Given the description of an element on the screen output the (x, y) to click on. 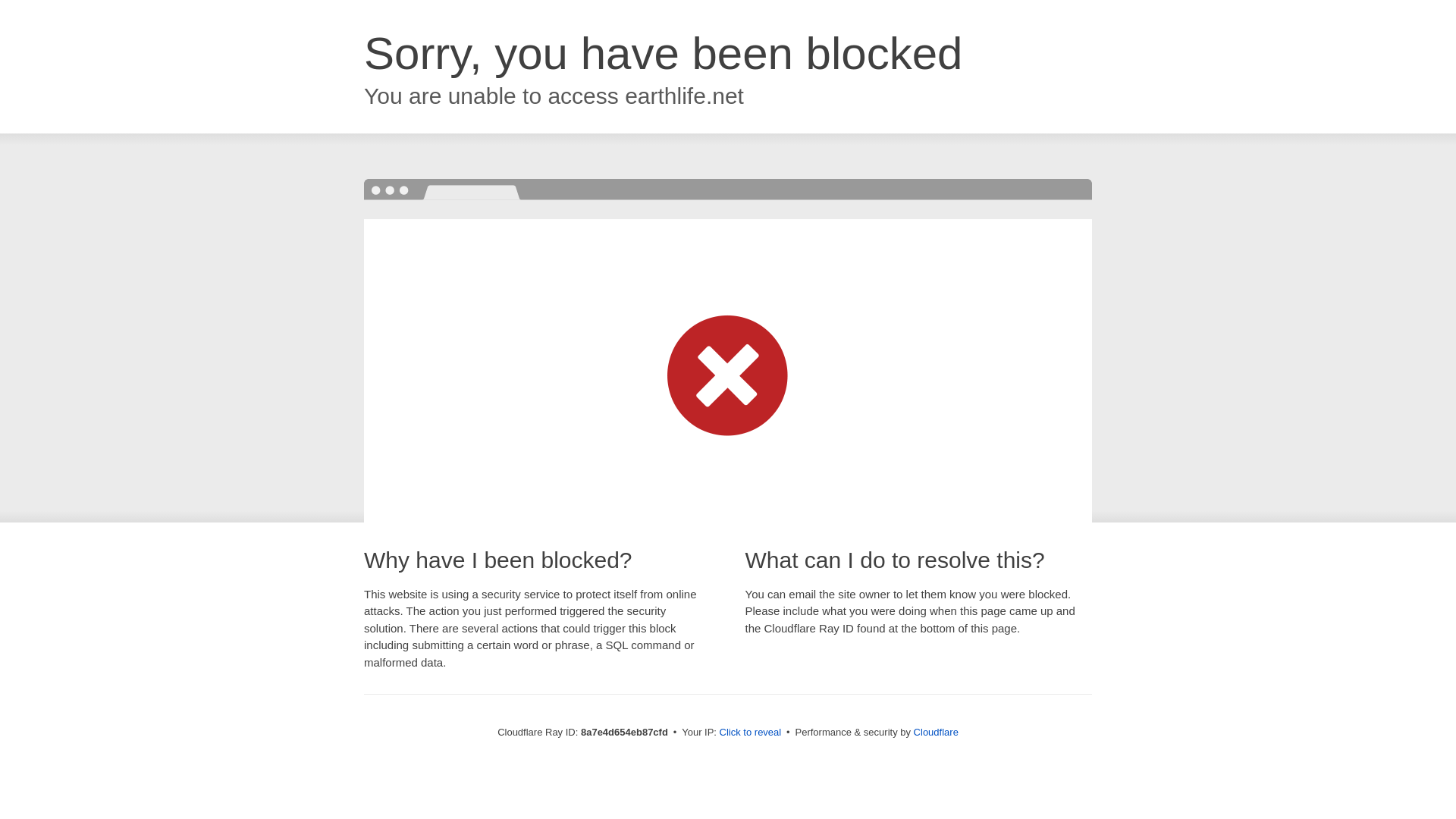
Click to reveal (750, 732)
Cloudflare (936, 731)
